Given the description of an element on the screen output the (x, y) to click on. 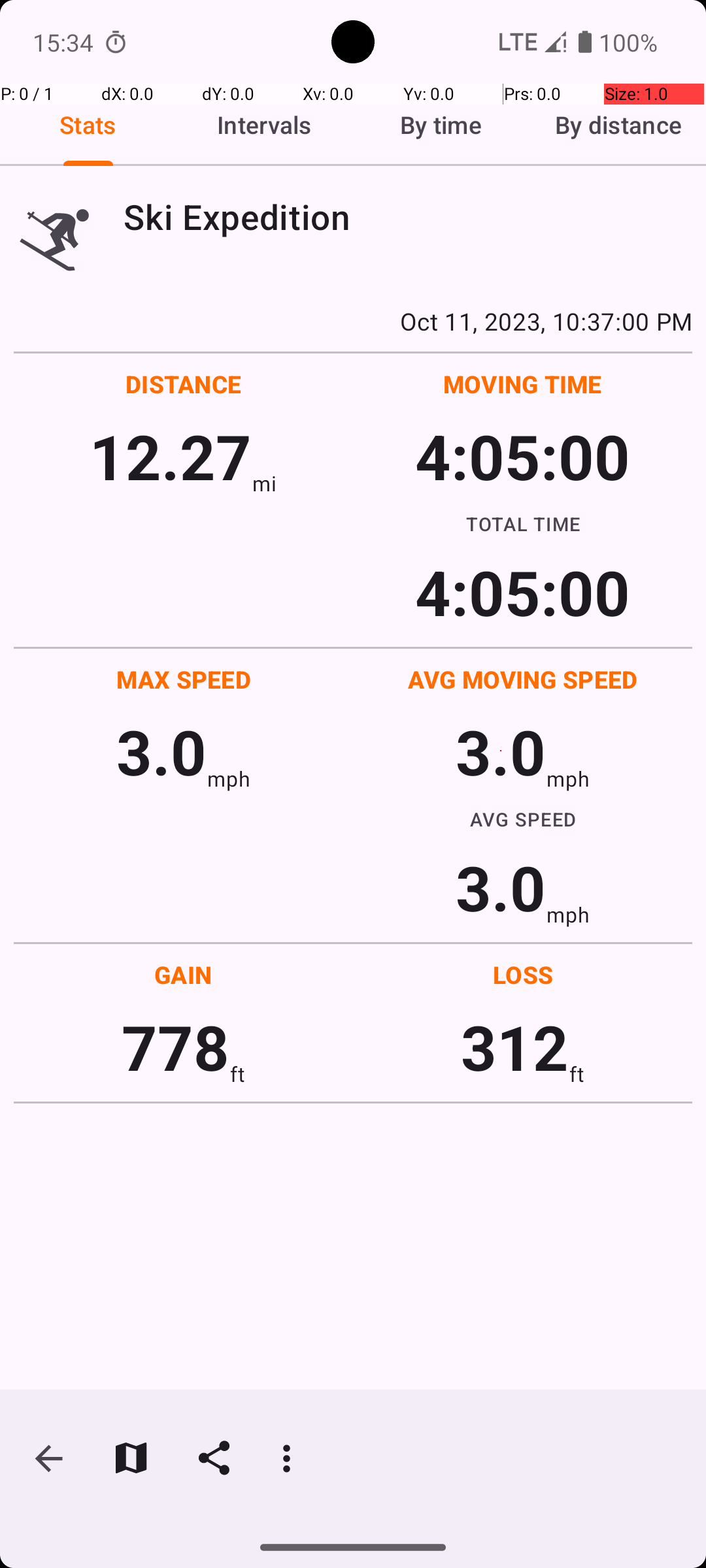
Ski Expedition Element type: android.widget.TextView (407, 216)
Oct 11, 2023, 10:37:00 PM Element type: android.widget.TextView (352, 320)
12.27 Element type: android.widget.TextView (170, 455)
4:05:00 Element type: android.widget.TextView (522, 455)
3.0 Element type: android.widget.TextView (161, 750)
778 Element type: android.widget.TextView (175, 1045)
312 Element type: android.widget.TextView (514, 1045)
